Given the description of an element on the screen output the (x, y) to click on. 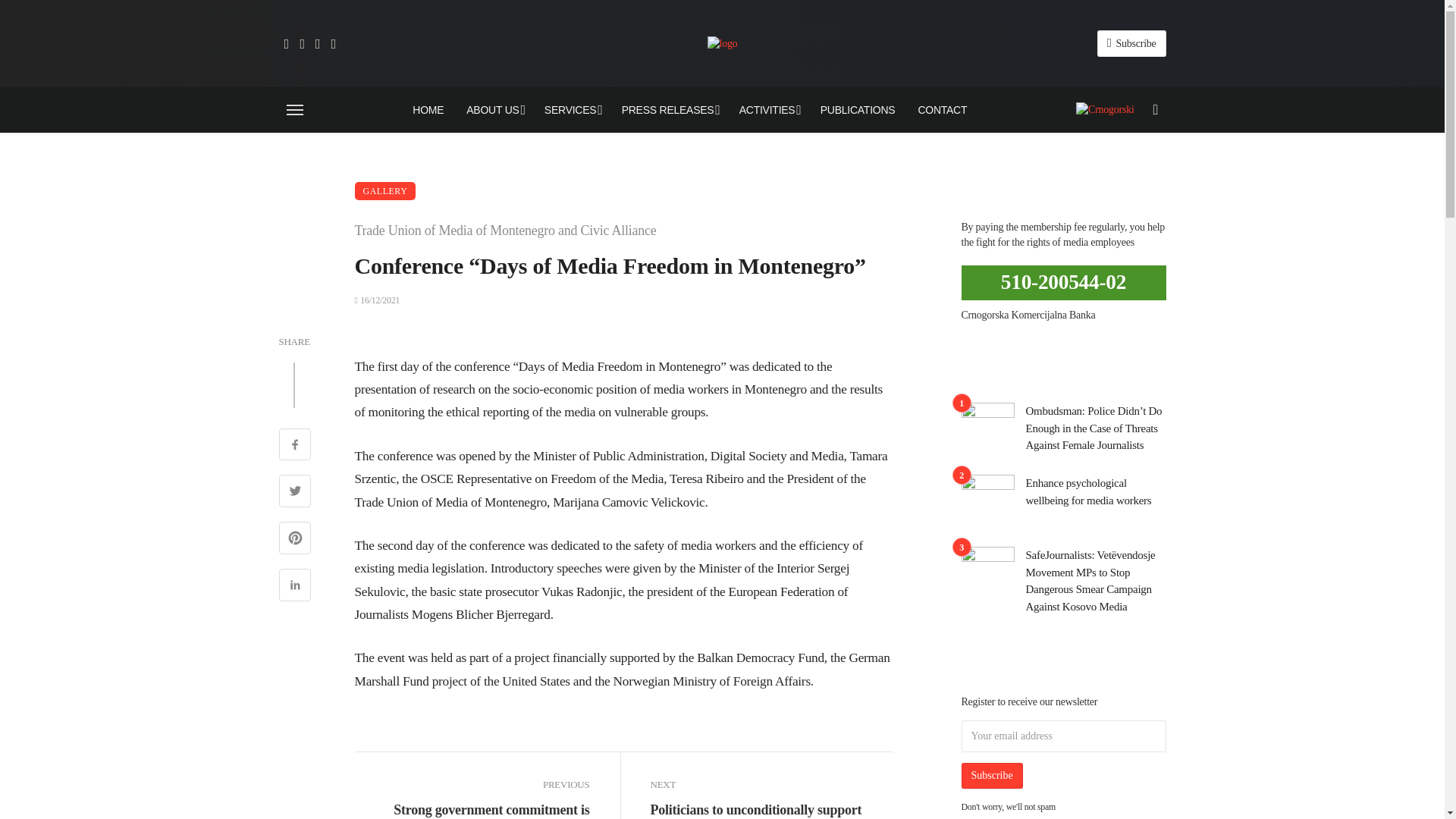
SERVICES (571, 109)
Subscribe (1131, 43)
PRESS RELEASES (669, 109)
Share on Twitter (295, 493)
ABOUT US (493, 109)
December 16, 2021 at 4:18 pm (377, 299)
Share on Facebook (295, 446)
ACTIVITIES (768, 109)
Subscribe (991, 775)
Share on Linkedin (295, 586)
